Given the description of an element on the screen output the (x, y) to click on. 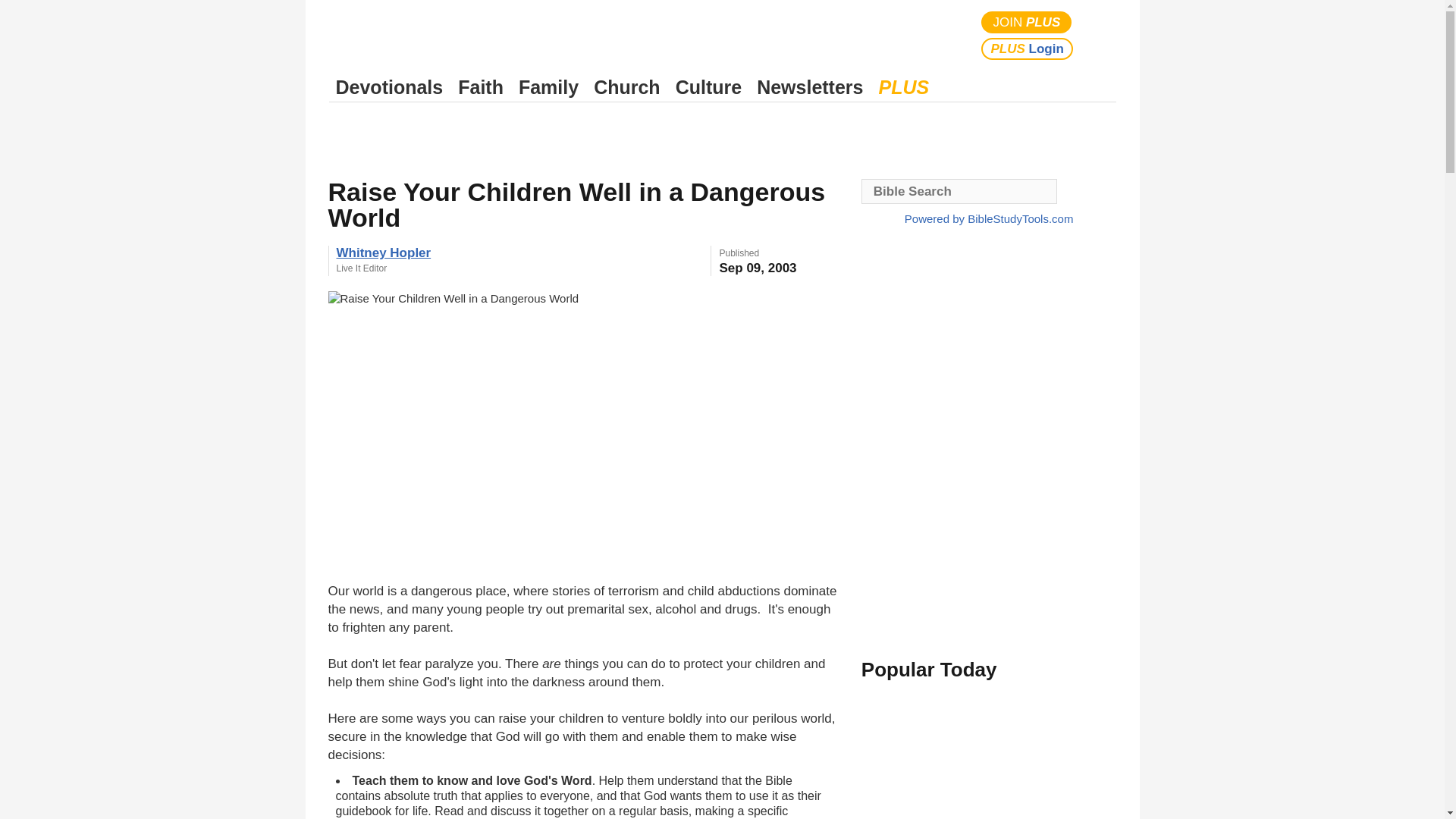
Plus Login (1026, 48)
Join Plus (1026, 22)
Family (548, 87)
Faith (481, 87)
PLUS Login (1026, 48)
Devotionals (389, 87)
Search (1101, 34)
JOIN PLUS (1026, 22)
